Given the description of an element on the screen output the (x, y) to click on. 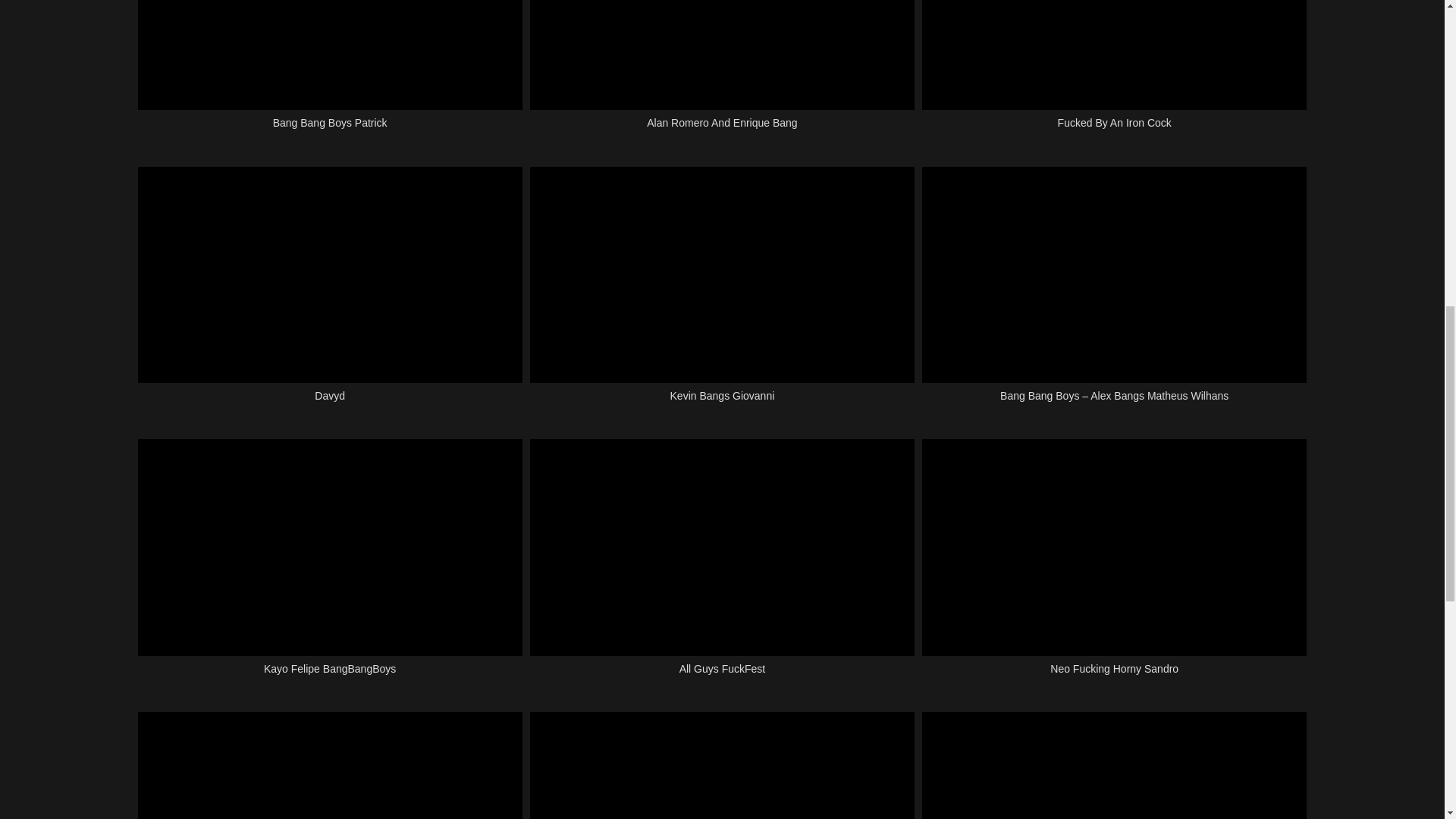
Bang Bang Boys Patrick (330, 73)
Neo Fucking Horny Sandro (1113, 565)
Kevin Bangs Giovanni (721, 293)
Kayo Felipe BangBangBoys (330, 565)
Lucas Fox Bangs Steve (330, 765)
Lucas Fox Bangs Steve (330, 765)
All Guys FuckFest (721, 565)
Bang Bang Boys Patrick (330, 73)
Kevin Bangs Giovanni (721, 293)
Alan Romero And Enrique Bang (721, 73)
